Given the description of an element on the screen output the (x, y) to click on. 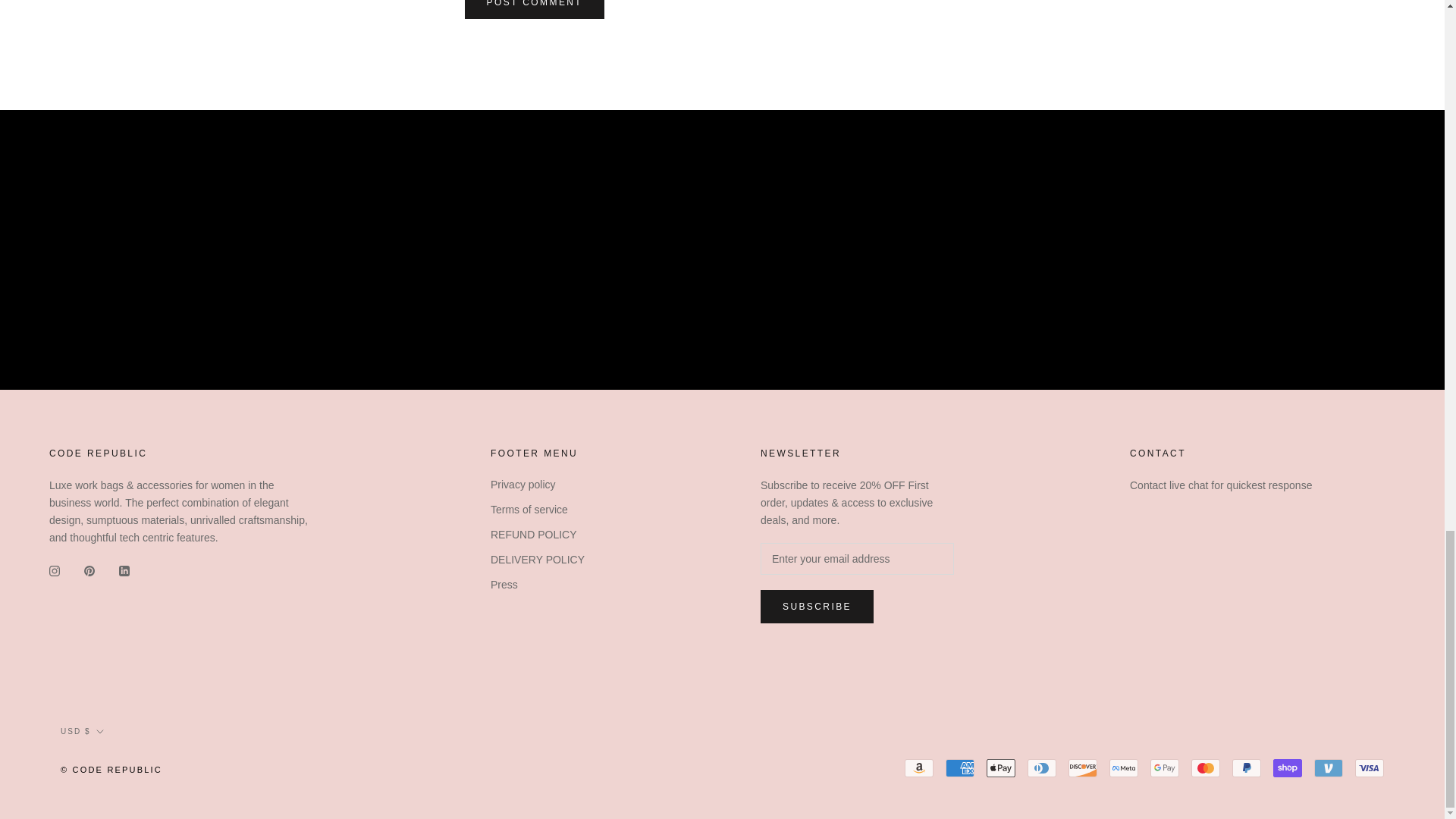
PayPal (1245, 768)
Amazon (918, 768)
American Express (959, 768)
Diners Club (1042, 768)
Meta Pay (1123, 768)
Shop Pay (1286, 768)
Visa (1369, 768)
Mastercard (1205, 768)
Venmo (1328, 768)
Discover (1082, 768)
